Given the description of an element on the screen output the (x, y) to click on. 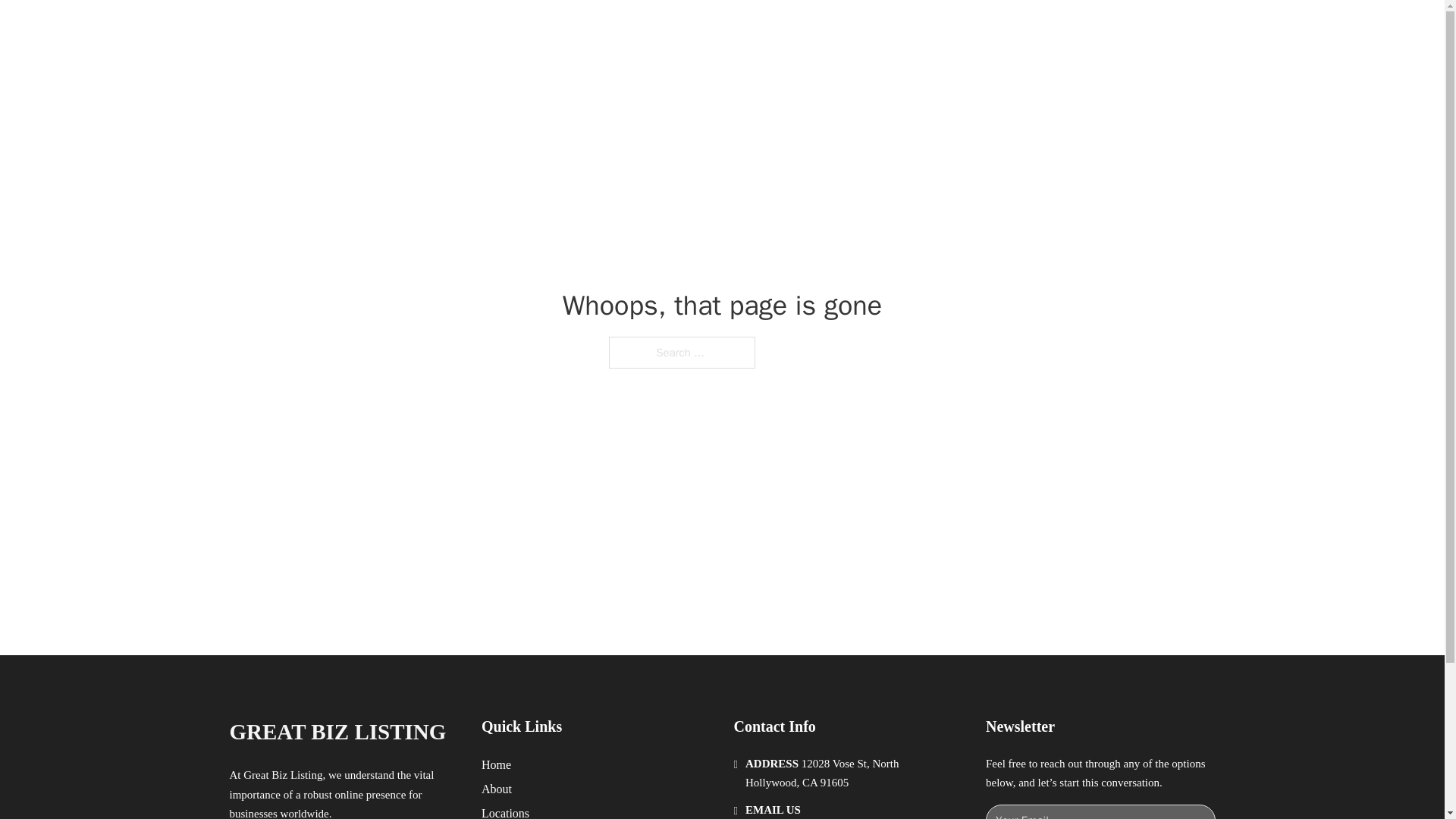
Home (496, 764)
GREAT BIZ LISTING (336, 732)
About (496, 788)
GREAT BIZ LISTING (406, 28)
Locations (505, 811)
